Given the description of an element on the screen output the (x, y) to click on. 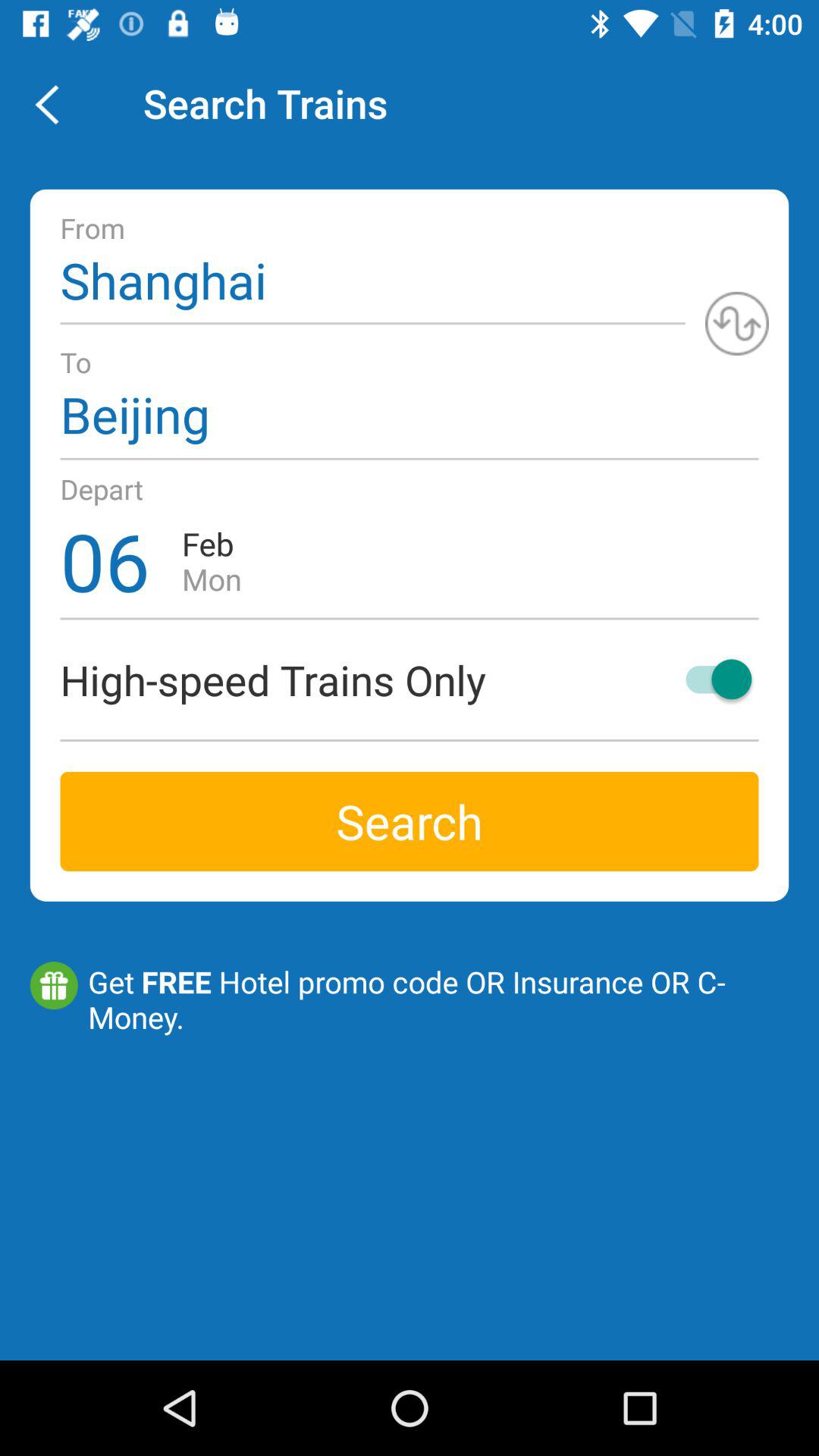
choose item next to the search trains (55, 103)
